Given the description of an element on the screen output the (x, y) to click on. 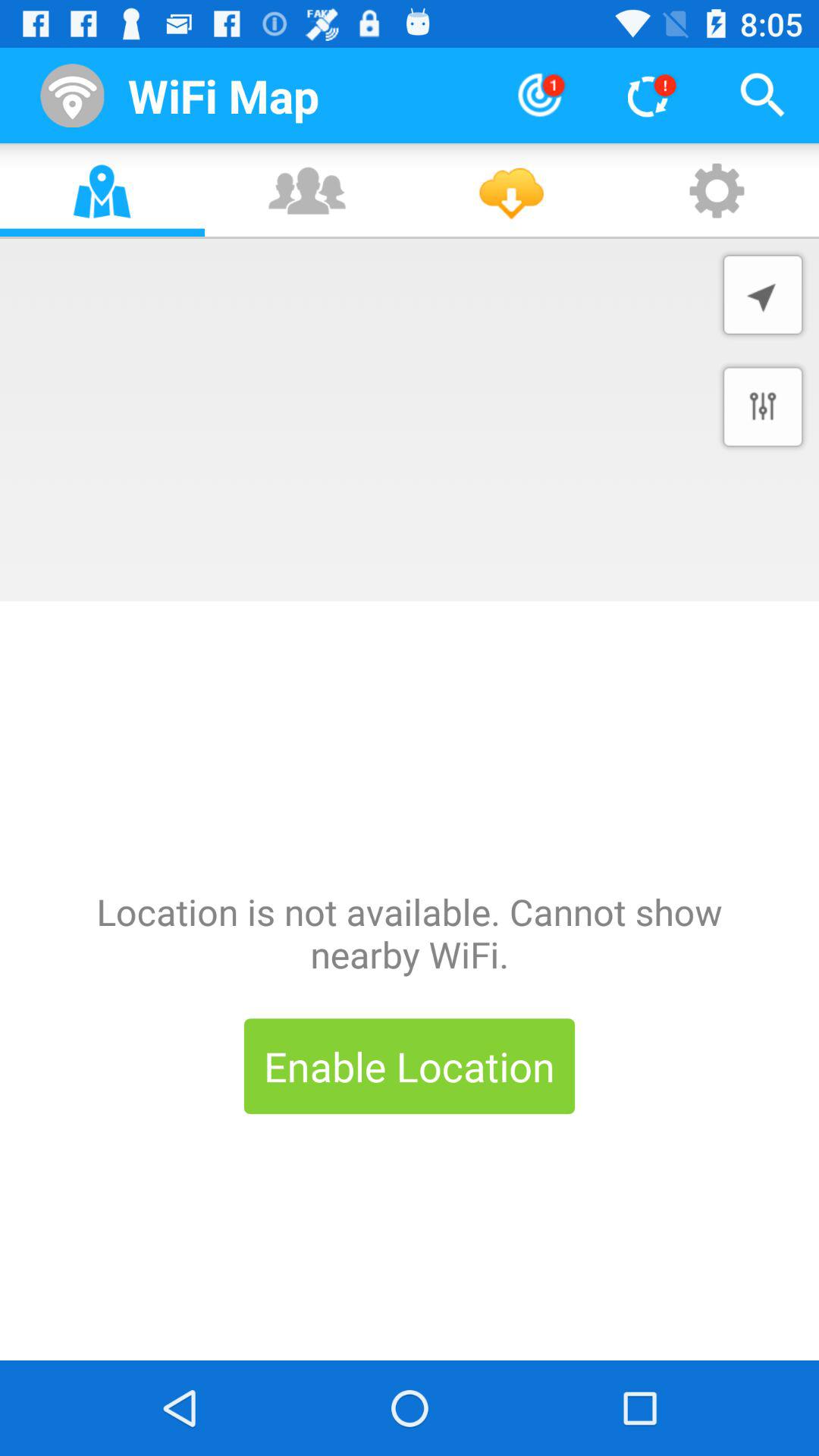
scroll until the enable location (409, 1066)
